Given the description of an element on the screen output the (x, y) to click on. 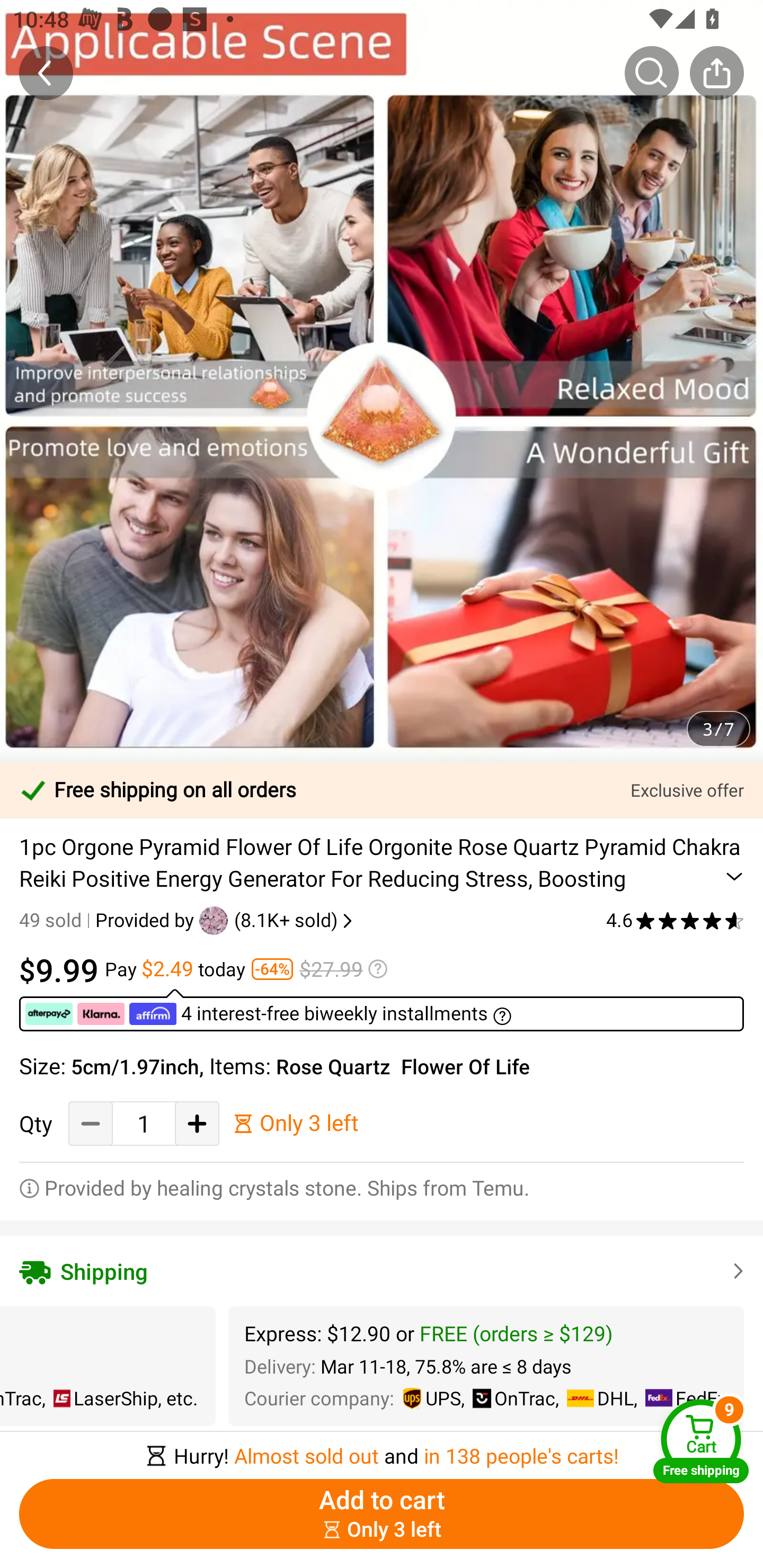
Back (46, 72)
Share (716, 72)
Free shipping on all orders Exclusive offer (381, 790)
4.6 (674, 920)
￼ ￼ ￼ 4 interest-free biweekly installments ￼ (381, 1009)
Decrease Quantity Button (90, 1123)
1 (143, 1123)
Add Quantity button (196, 1123)
Shipping (381, 1271)
Cart Free shipping Cart (701, 1440)
Add to cart ￼￼Only 3 left (381, 1513)
